Given the description of an element on the screen output the (x, y) to click on. 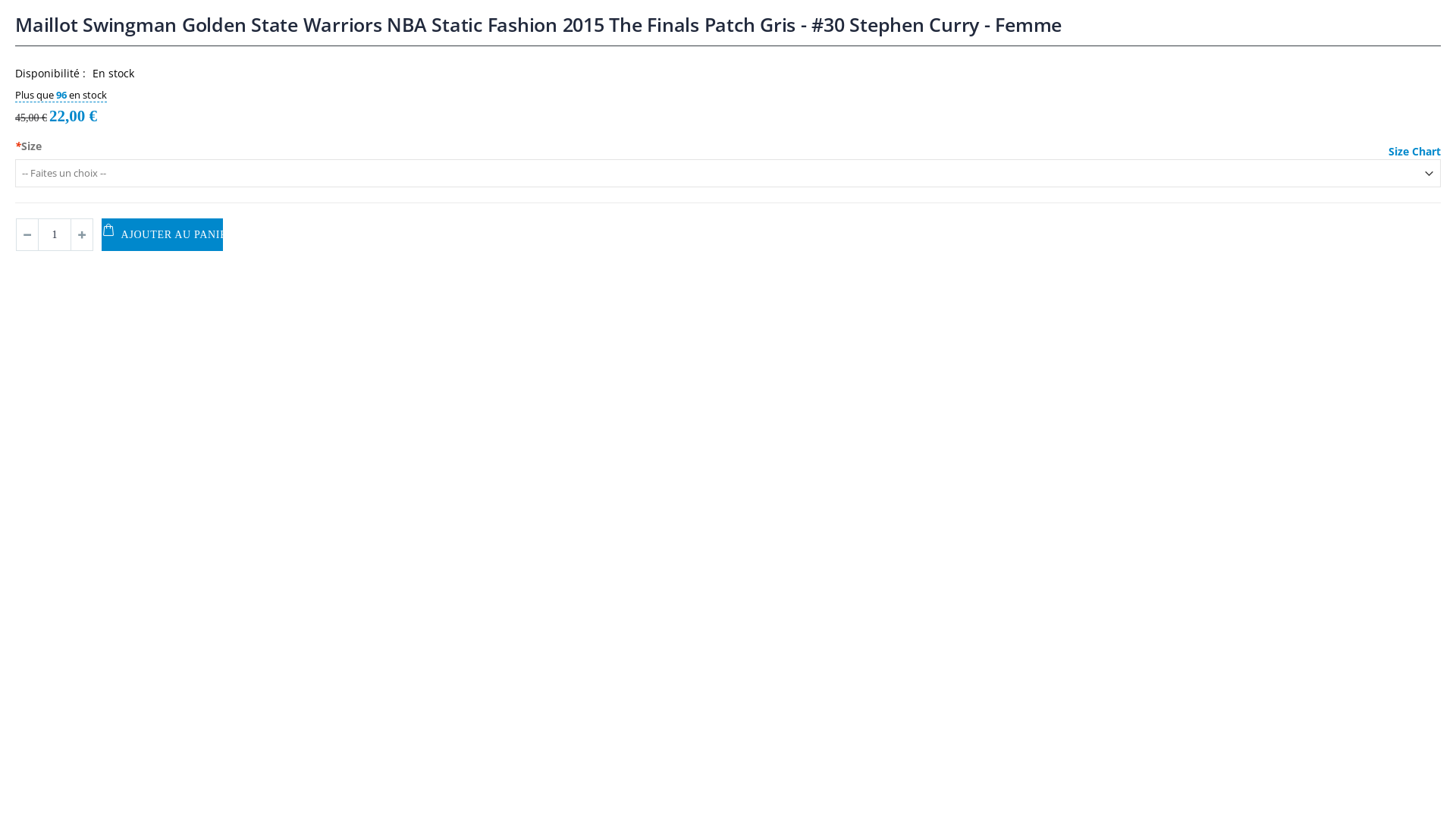
AJOUTER AU PANIER Element type: text (161, 234)
Size Chart Element type: text (1414, 151)
